Given the description of an element on the screen output the (x, y) to click on. 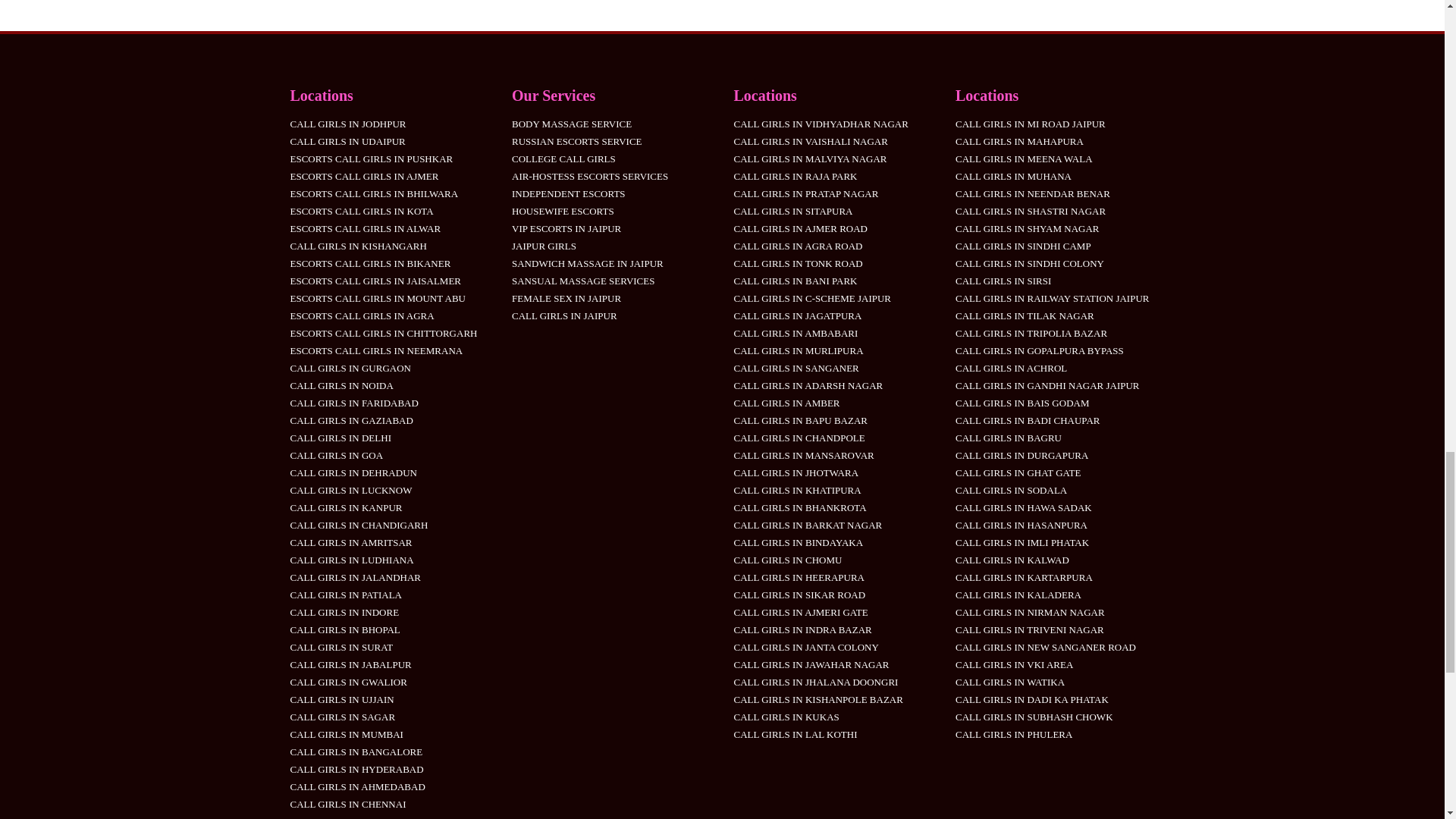
CALL GIRLS IN AMRITSAR (350, 542)
ESCORTS CALL GIRLS IN AGRA (361, 315)
ESCORTS CALL GIRLS IN CHITTORGARH (383, 333)
CALL GIRLS IN NOIDA (341, 385)
ESCORTS CALL GIRLS IN ALWAR (365, 228)
CALL GIRLS IN FARIDABAD (353, 402)
CALL GIRLS IN DELHI (339, 437)
ESCORTS CALL GIRLS IN NEEMRANA (376, 350)
CALL GIRLS IN CHANDIGARH (358, 524)
CALL GIRLS IN JODHPUR (347, 123)
CALL GIRLS IN KANPUR (345, 507)
ESCORTS CALL GIRLS IN BIKANER (369, 263)
CALL GIRLS IN GAZIABAD (350, 419)
CALL GIRLS IN UDAIPUR (346, 141)
CALL GIRLS IN GURGAON (349, 367)
